Given the description of an element on the screen output the (x, y) to click on. 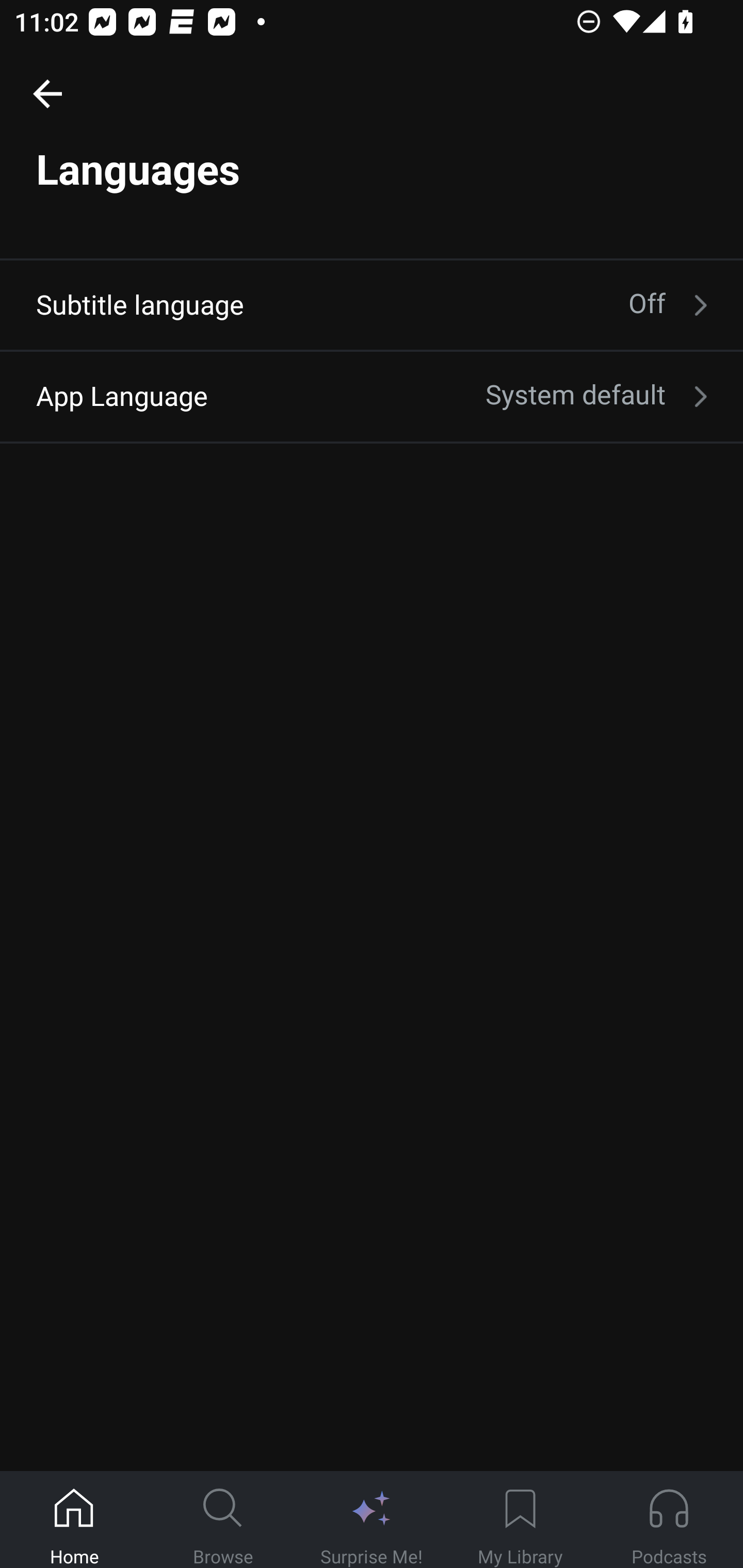
Settings, back (47, 92)
Subtitle language Off (371, 304)
App Language System default (371, 396)
Home (74, 1520)
Browse (222, 1520)
Surprise Me! (371, 1520)
My Library (519, 1520)
Podcasts (668, 1520)
